Given the description of an element on the screen output the (x, y) to click on. 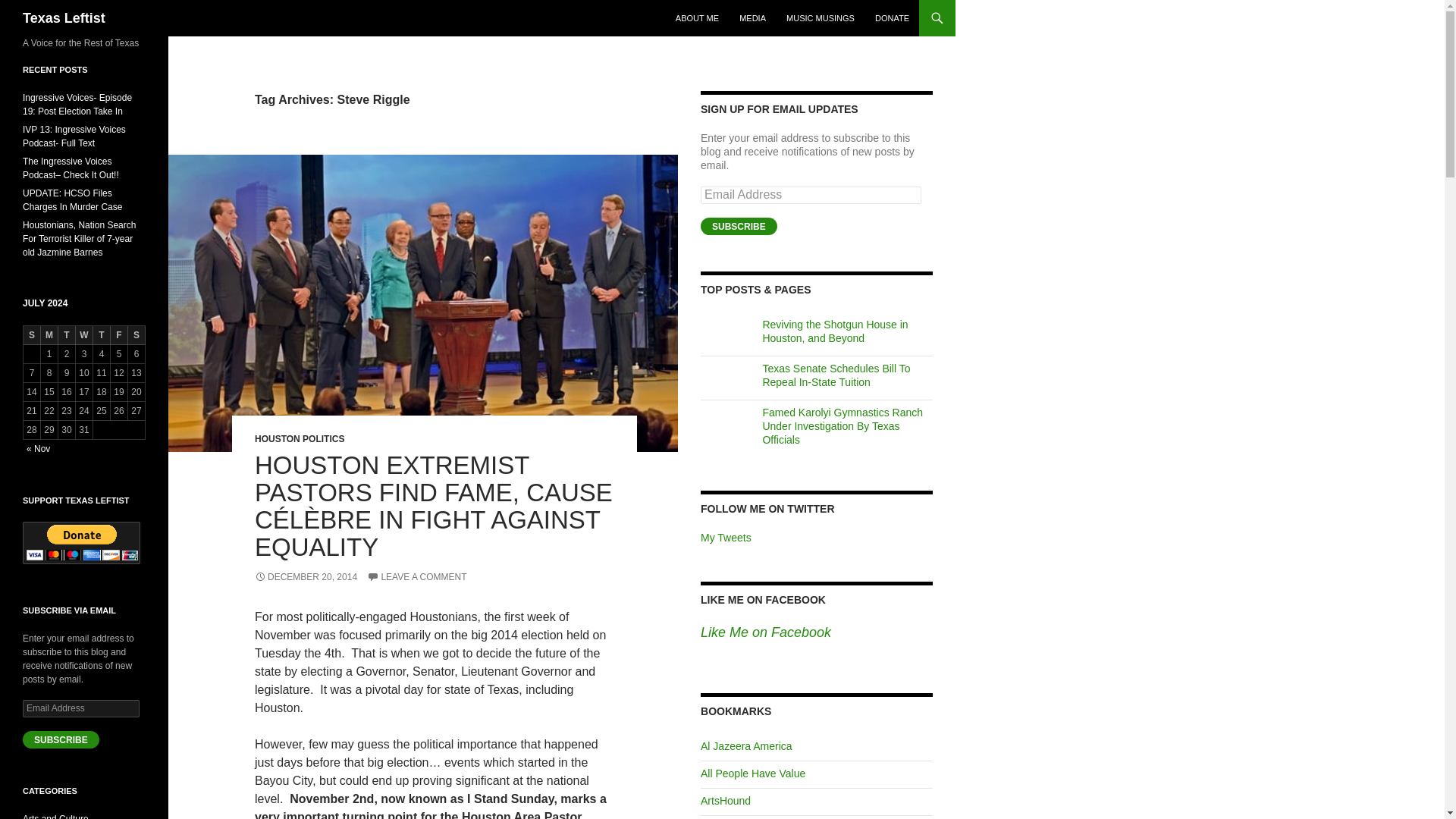
ABOUT ME (697, 18)
MUSIC MUSINGS (820, 18)
DECEMBER 20, 2014 (305, 576)
LEAVE A COMMENT (415, 576)
HOUSTON POLITICS (298, 439)
MEDIA (752, 18)
Texas Leftist (63, 18)
DONATE (892, 18)
